Given the description of an element on the screen output the (x, y) to click on. 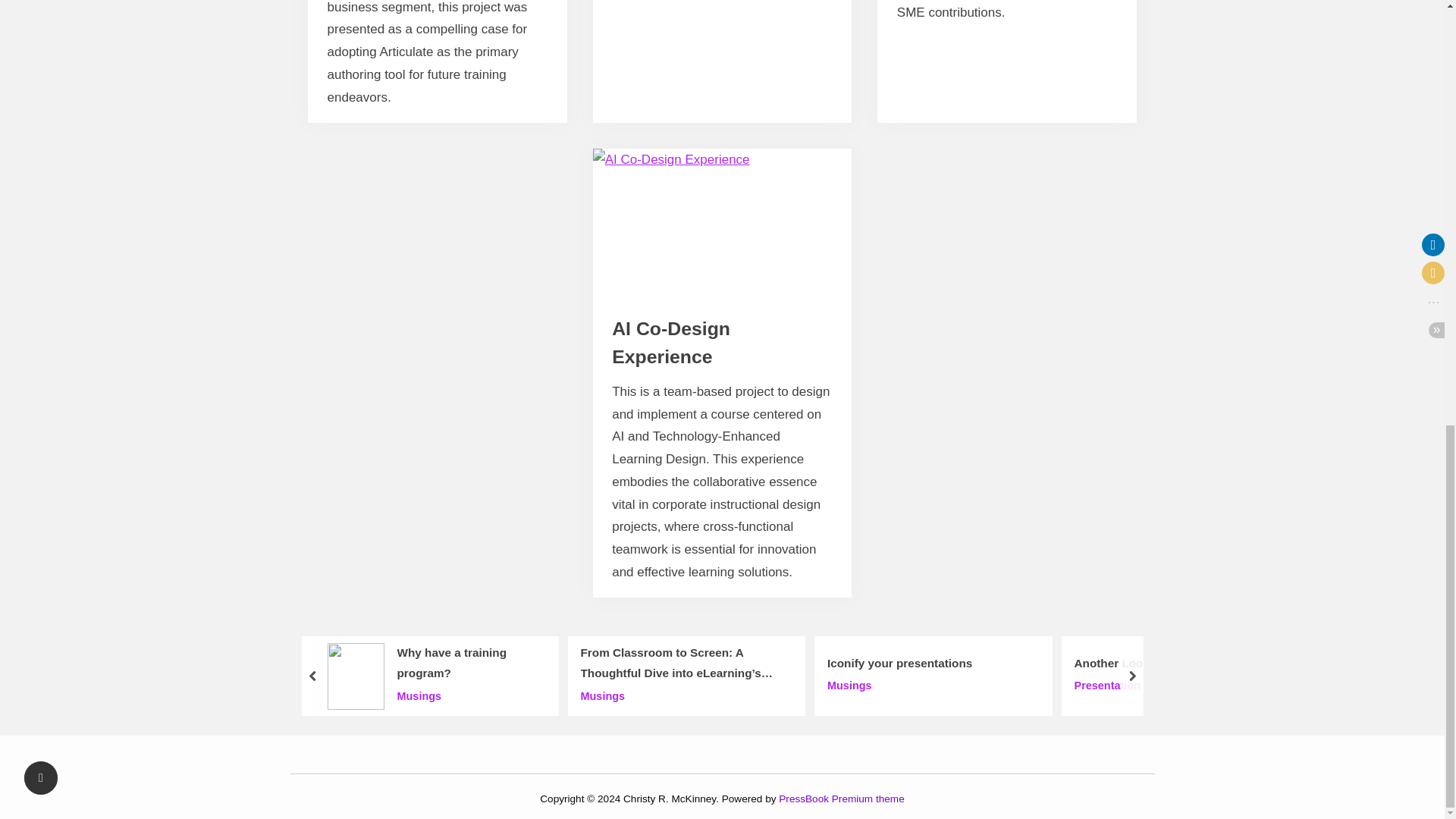
Design and Development (692, 339)
Iconify your presentations (899, 663)
Why have a training program? (468, 663)
Musings (468, 696)
AI Co-Design Experience (670, 342)
Musings (681, 696)
